Given the description of an element on the screen output the (x, y) to click on. 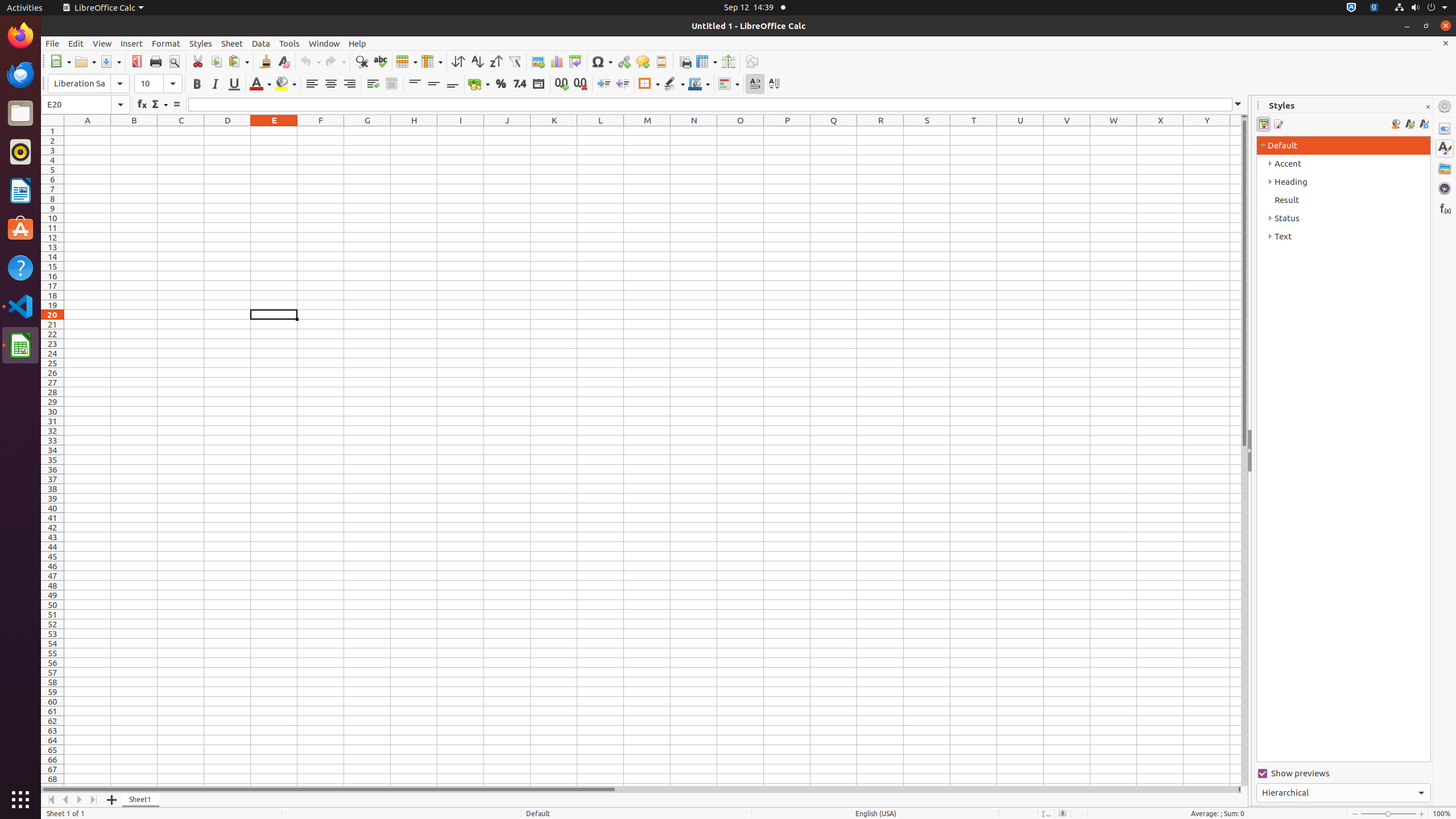
J1 Element type: table-cell (507, 130)
Z1 Element type: table-cell (1235, 130)
Symbol Element type: push-button (601, 61)
Y1 Element type: table-cell (1206, 130)
Border Color Element type: push-button (698, 83)
